Given the description of an element on the screen output the (x, y) to click on. 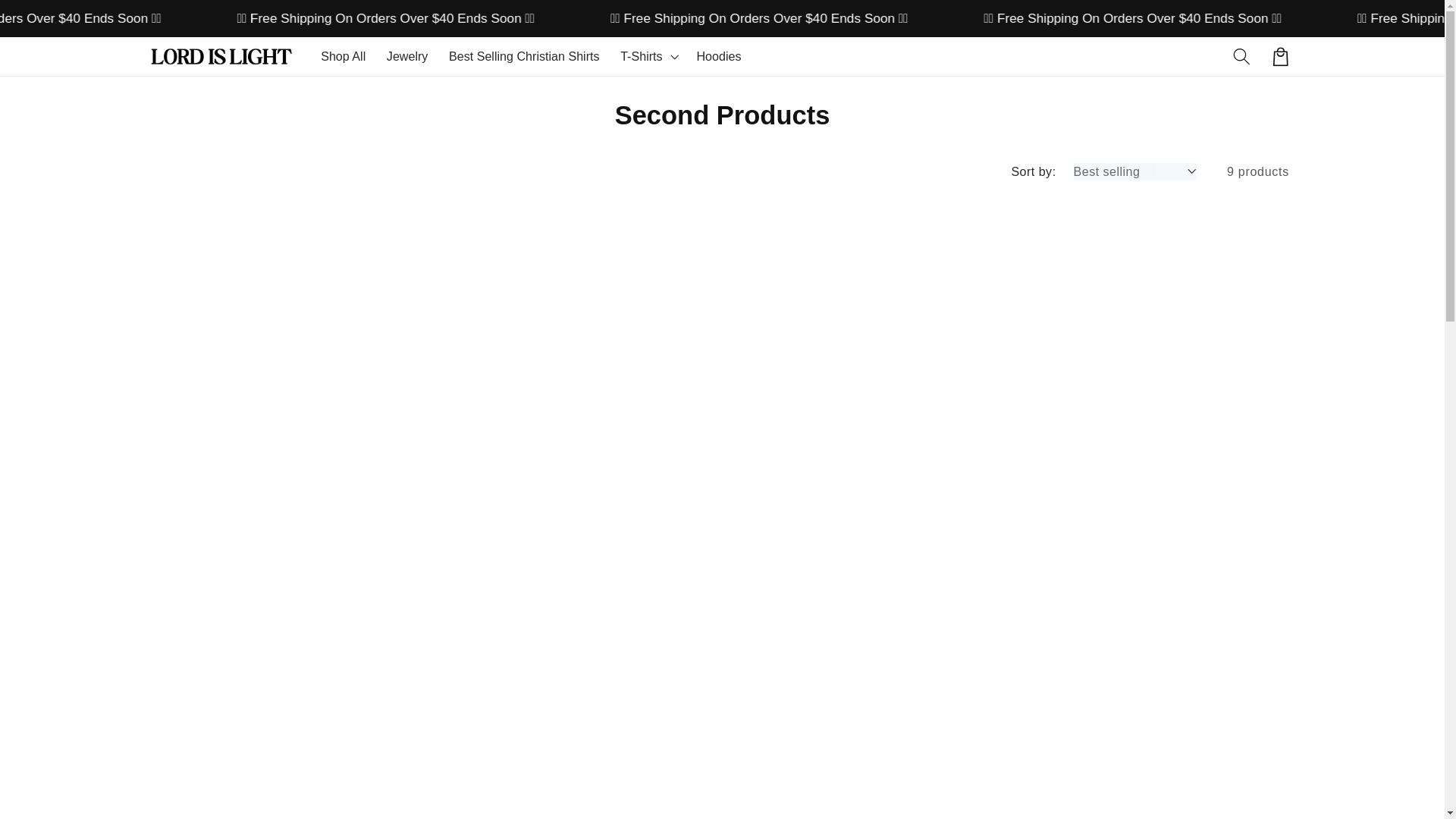
Cart (1280, 56)
Skip to content (53, 20)
Shop All (342, 56)
Best Selling Christian Shirts (524, 56)
Jewelry (406, 56)
Hoodies (718, 56)
